Given the description of an element on the screen output the (x, y) to click on. 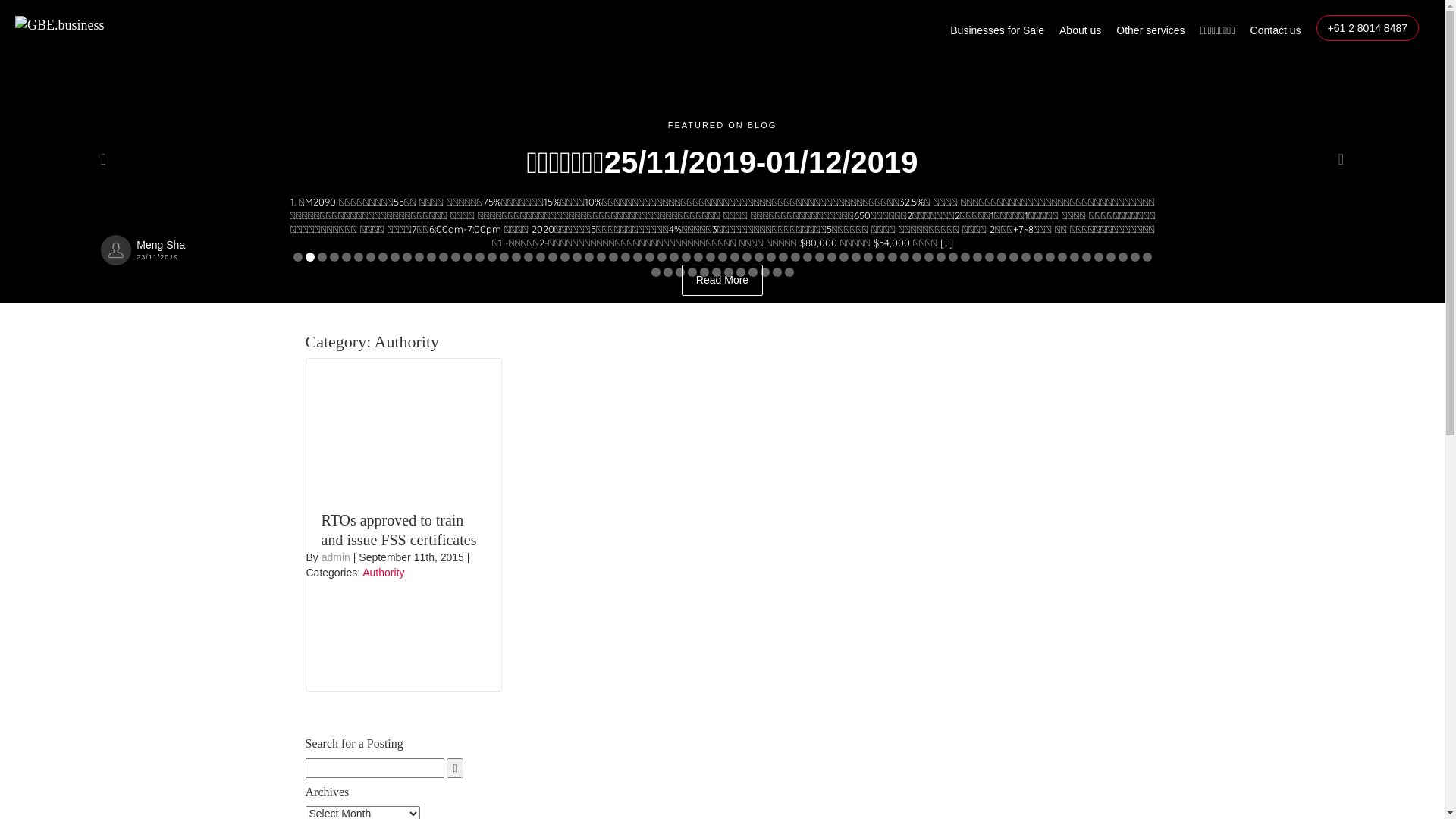
RTOs approved to train and issue FSS certificates Element type: text (398, 529)
Read More Element type: text (719, 252)
+61 2 8014 8487 Element type: text (1367, 27)
Other services Element type: text (1150, 33)
Authority Element type: text (383, 572)
Businesses for Sale Element type: text (997, 33)
admin Element type: text (335, 557)
Contact us Element type: text (1275, 33)
About us Element type: text (1080, 33)
